Given the description of an element on the screen output the (x, y) to click on. 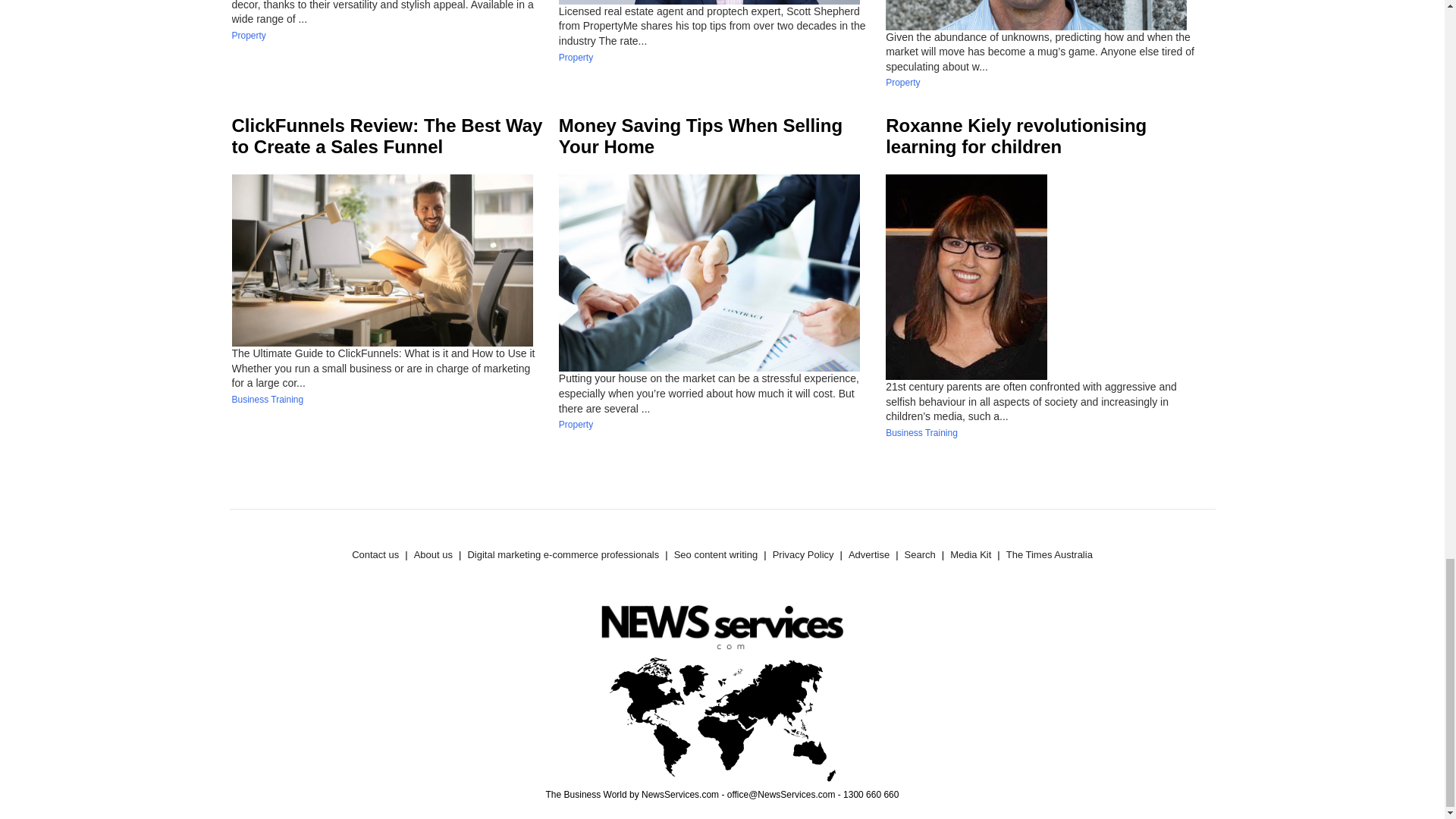
ClickFunnels Review: The Best Way to Create a Sales Funnel (387, 136)
Property (248, 35)
Business Training (267, 398)
Property (575, 57)
Money Saving Tips When Selling Your Home (701, 136)
Property (575, 424)
Roxanne Kiely revolutionising learning for children (1016, 136)
Property (902, 81)
Money Saving Tips When Selling Your Home (701, 136)
ClickFunnels Review: The Best Way to Create a Sales Funnel (387, 136)
